Given the description of an element on the screen output the (x, y) to click on. 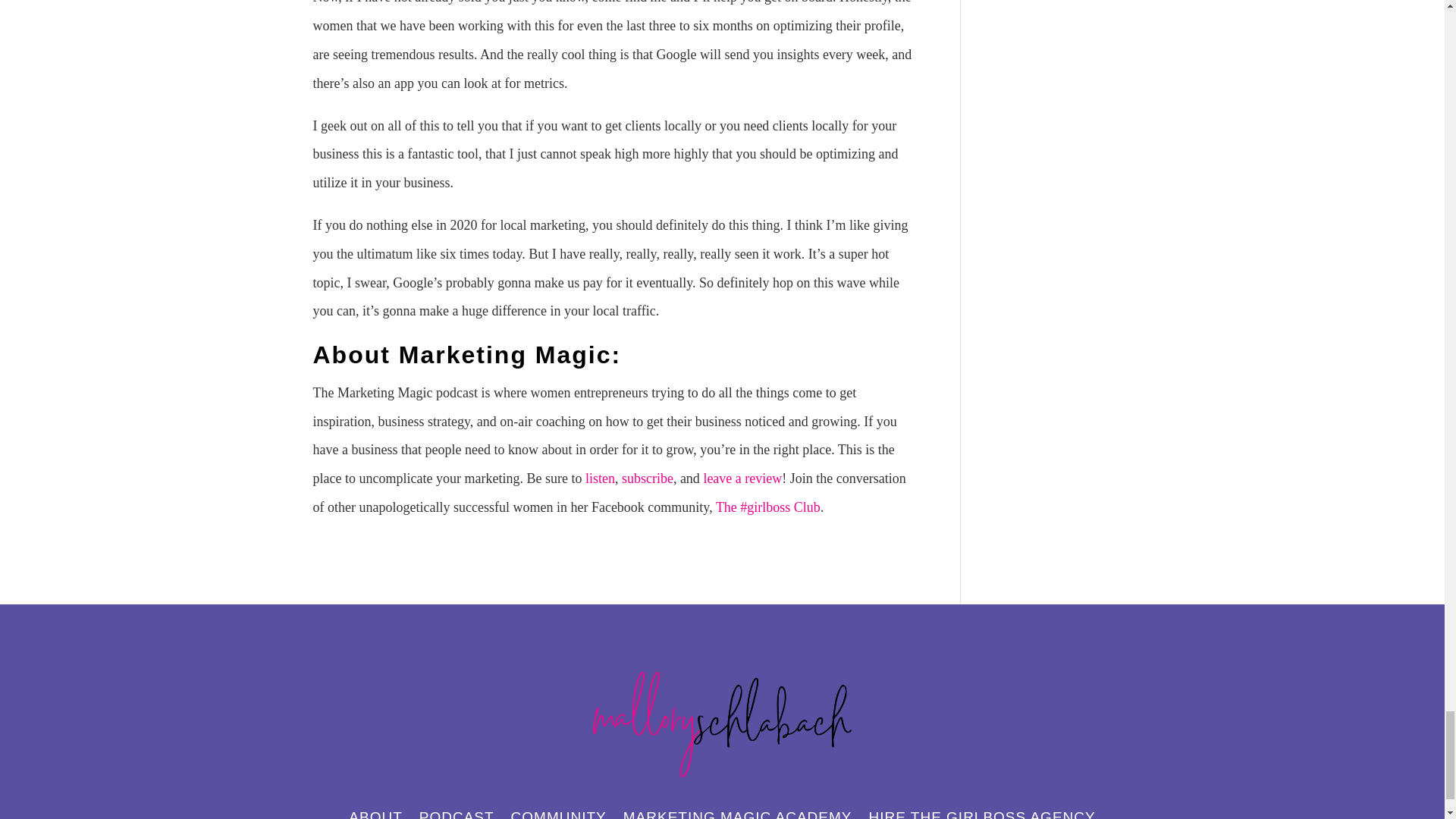
mallorysignature-big (722, 724)
subscribe (646, 478)
leave a review (742, 478)
listen (599, 478)
